Given the description of an element on the screen output the (x, y) to click on. 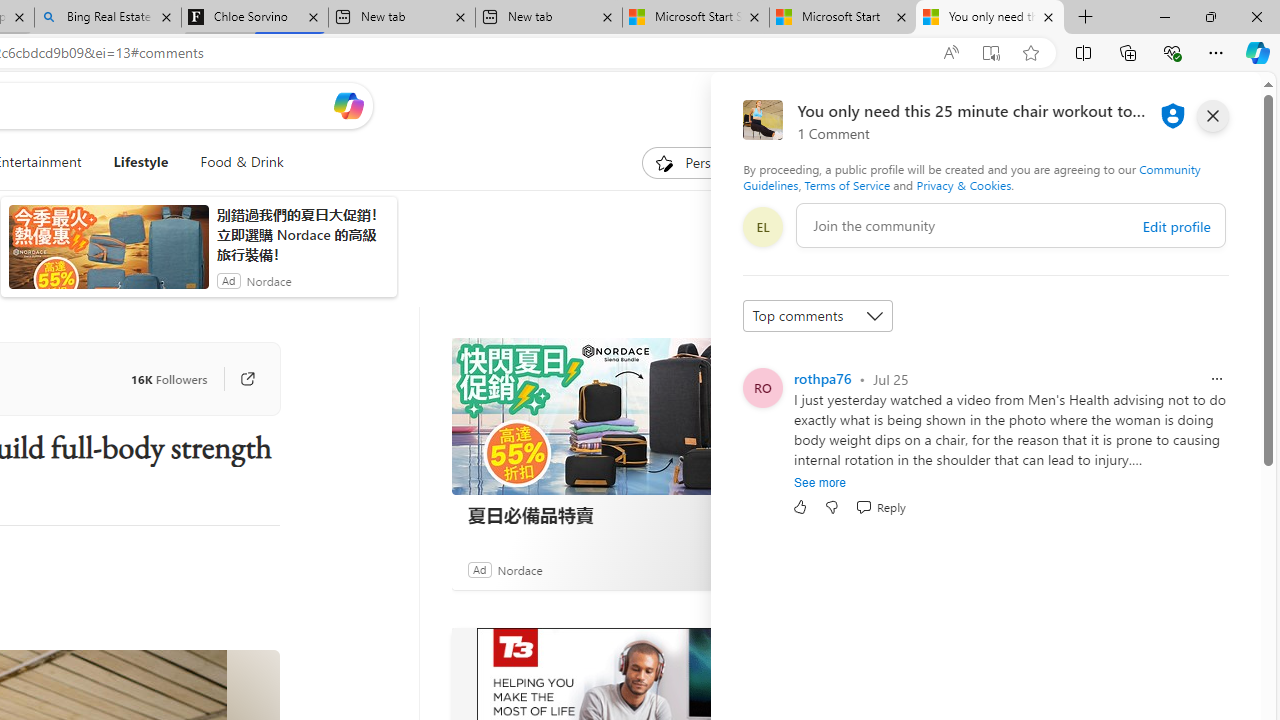
Like (799, 507)
Personalize (703, 162)
Edit profile (1175, 226)
Lifestyle (141, 162)
Microsoft Start Sports (696, 17)
